Given the description of an element on the screen output the (x, y) to click on. 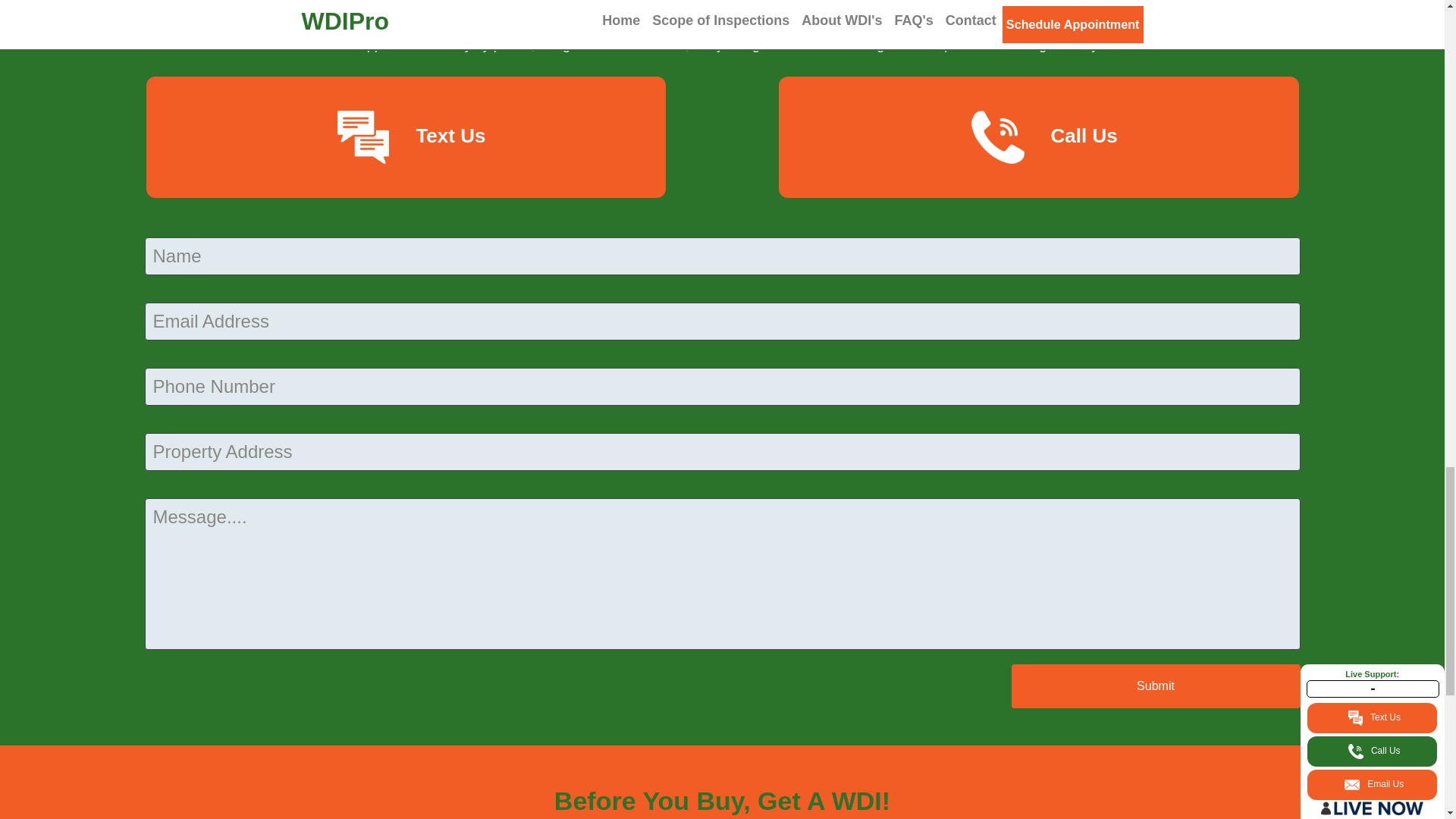
Call Us (1038, 137)
Text Us (405, 137)
scheduler (816, 44)
Submit (1155, 686)
